Given the description of an element on the screen output the (x, y) to click on. 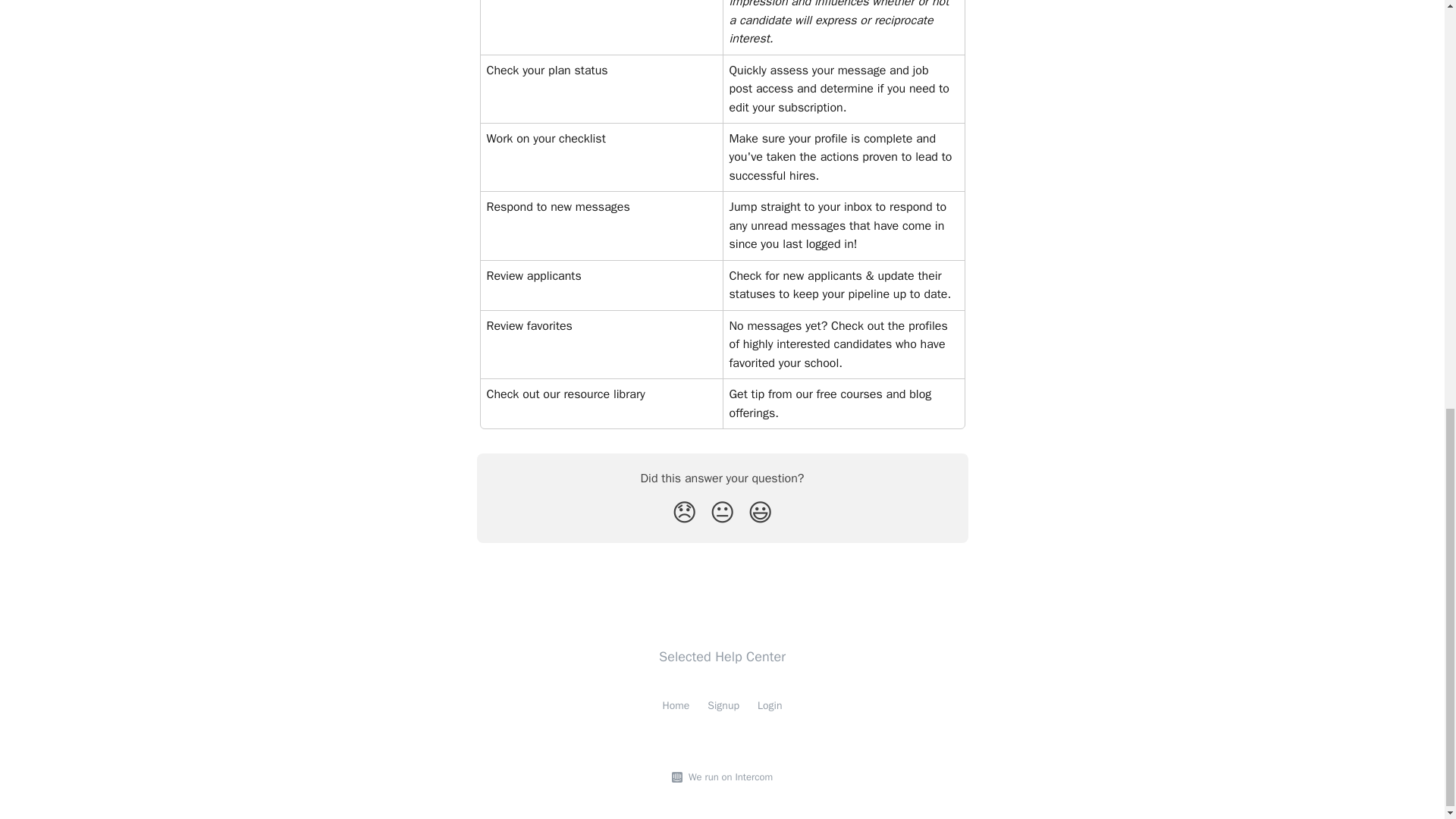
We run on Intercom (727, 777)
Login (769, 705)
Selected Help Center (722, 656)
Signup (723, 705)
Home (676, 705)
